Given the description of an element on the screen output the (x, y) to click on. 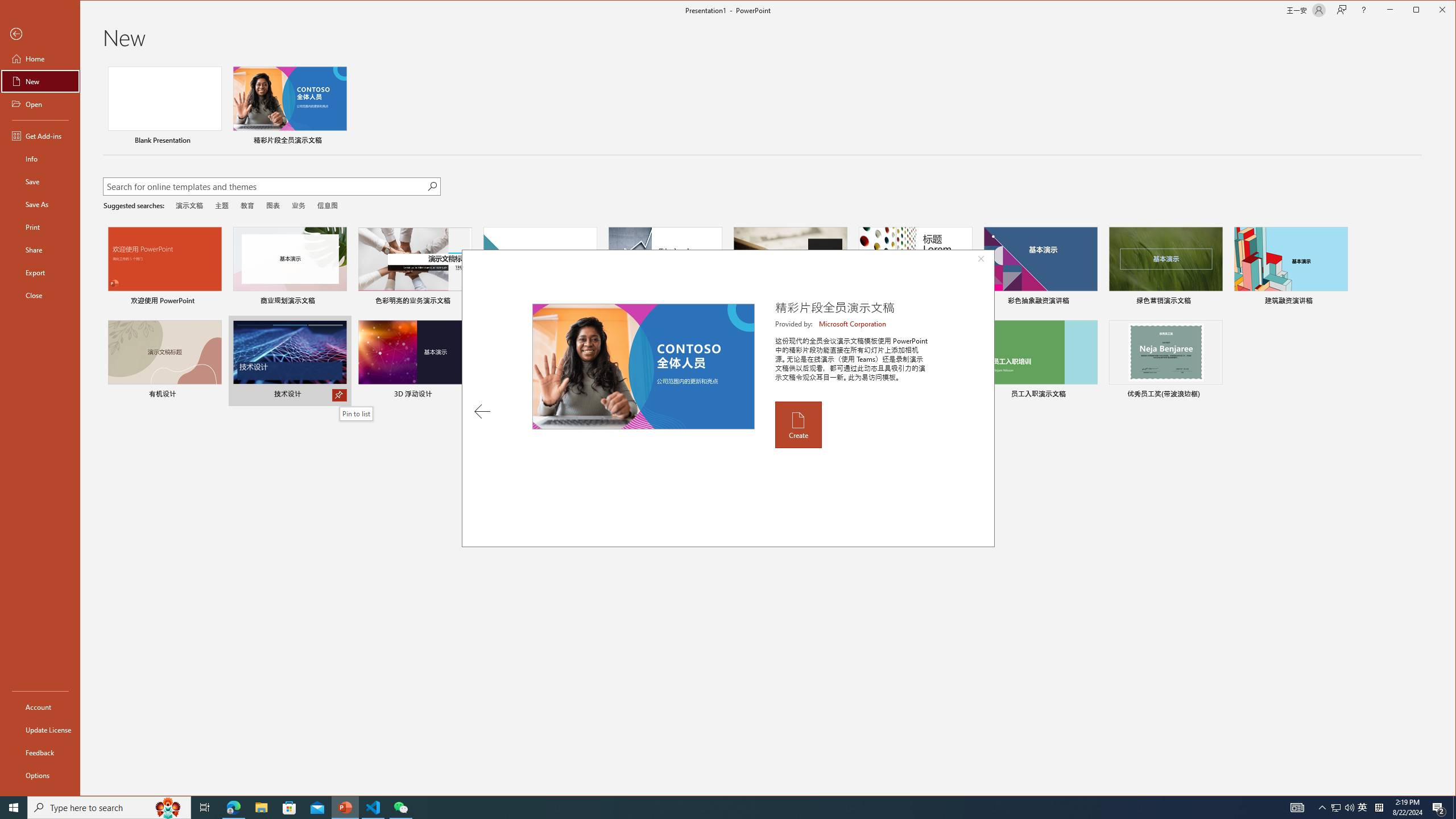
New (40, 80)
Maximize (1432, 11)
Save As (40, 203)
Search for online templates and themes (264, 187)
Blank Presentation (164, 107)
Pin to list (355, 413)
